Given the description of an element on the screen output the (x, y) to click on. 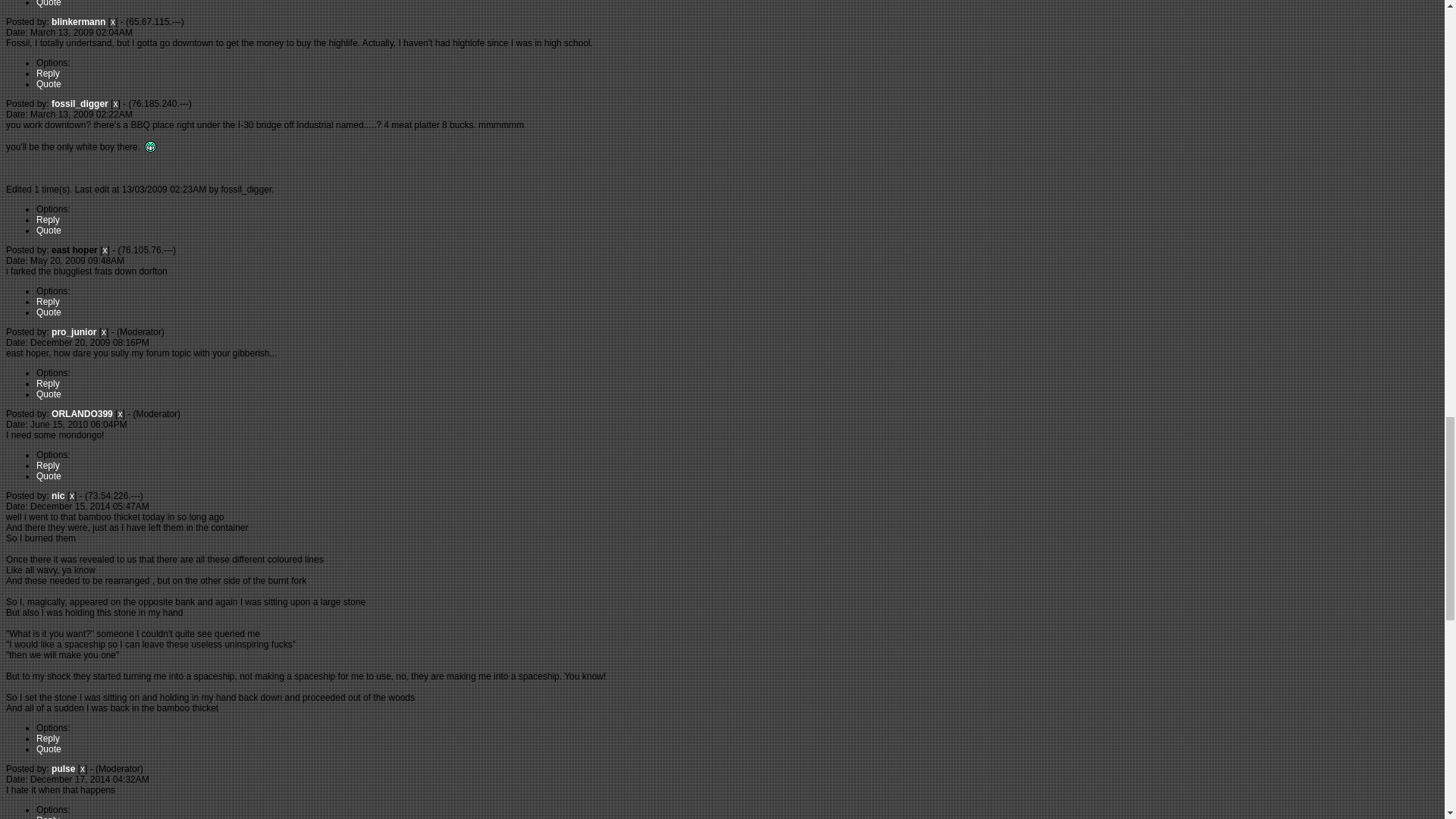
grinning smiley (149, 146)
